Given the description of an element on the screen output the (x, y) to click on. 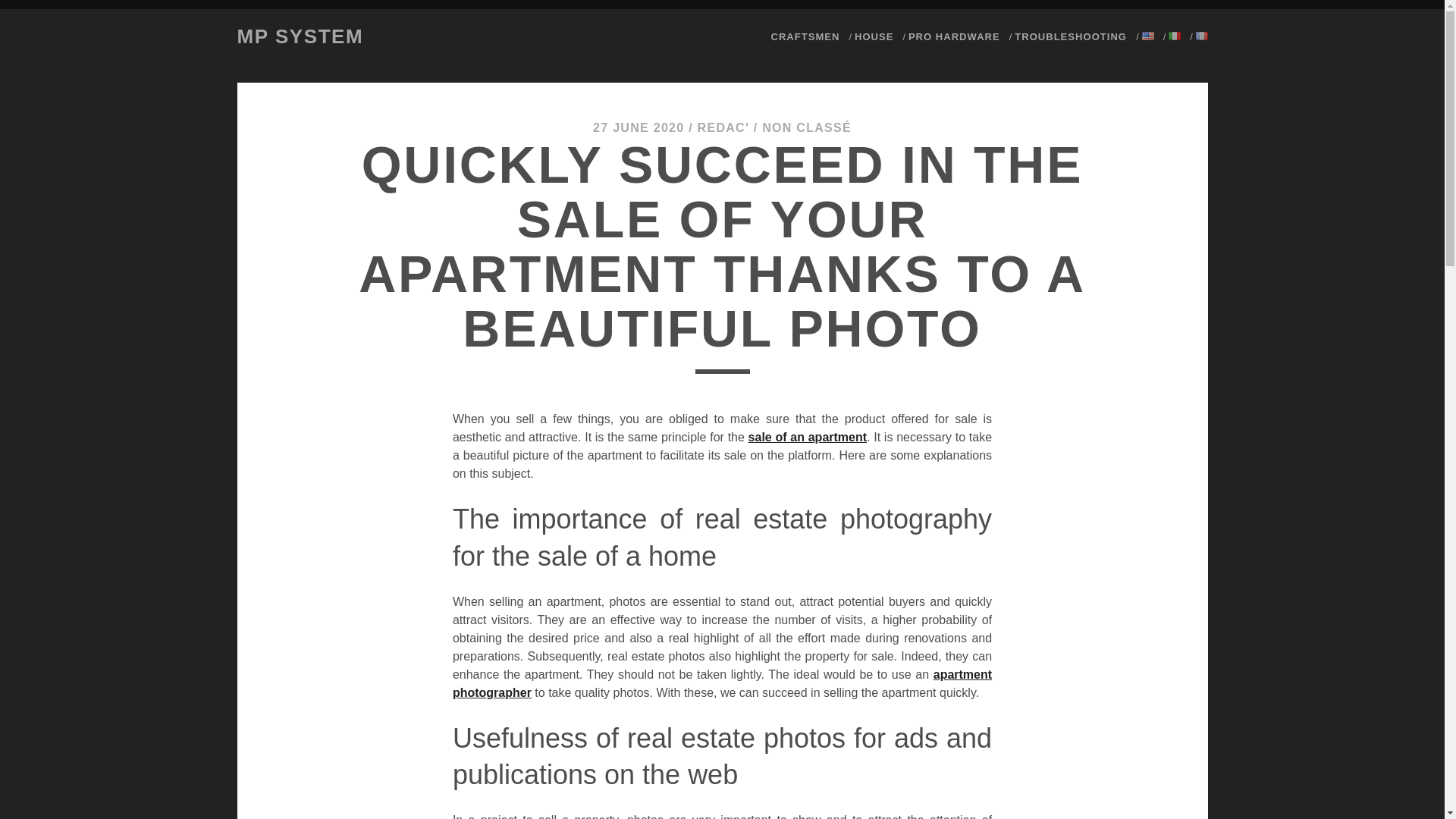
Posts by Redac' (723, 127)
sale of an apartment (807, 436)
MP SYSTEM (298, 36)
CRAFTSMEN (805, 36)
PRO HARDWARE (954, 36)
REDAC' (723, 127)
HOUSE (873, 36)
apartment photographer (721, 683)
TROUBLESHOOTING (1070, 36)
